Given the description of an element on the screen output the (x, y) to click on. 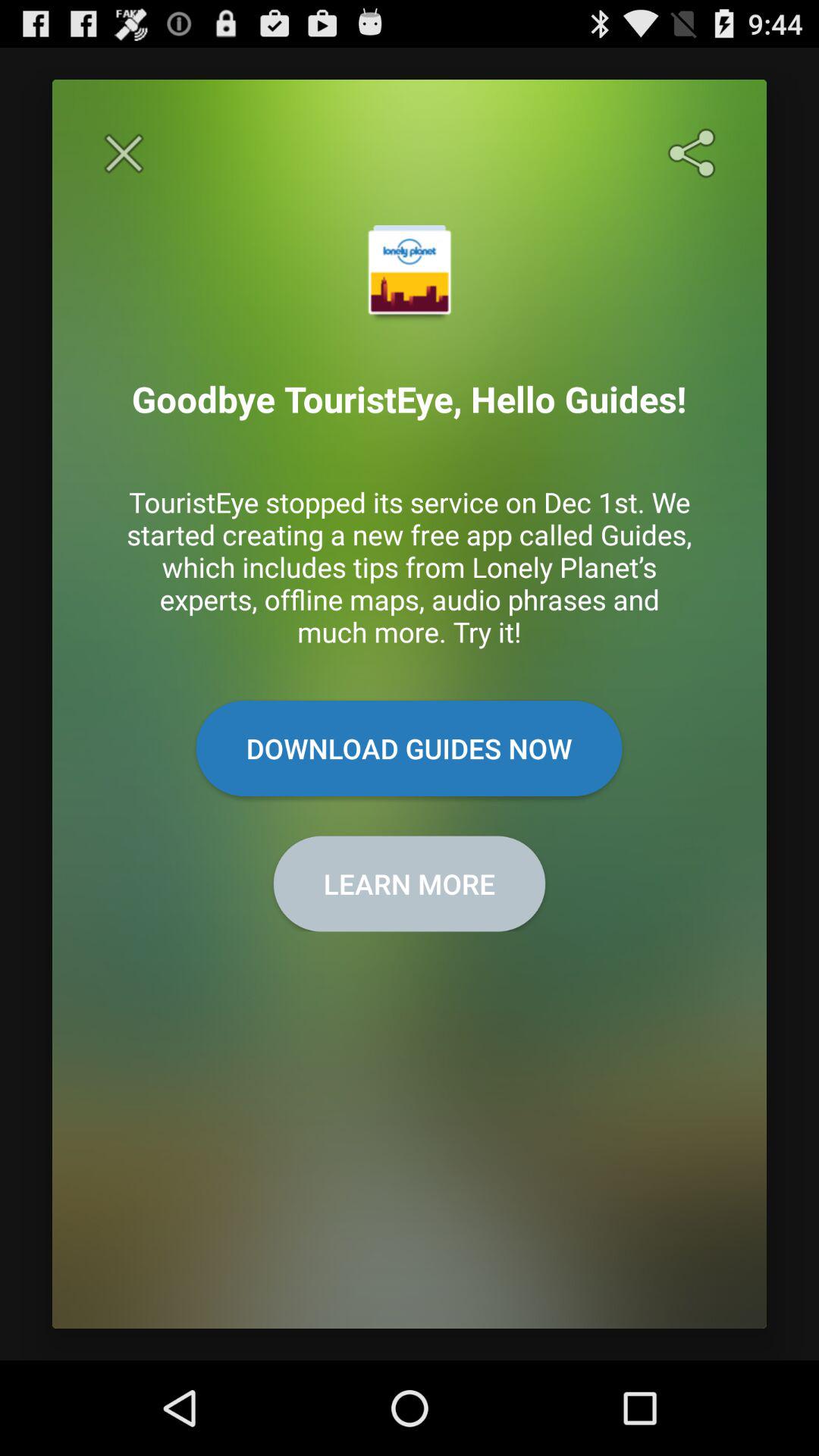
exit out (123, 153)
